Given the description of an element on the screen output the (x, y) to click on. 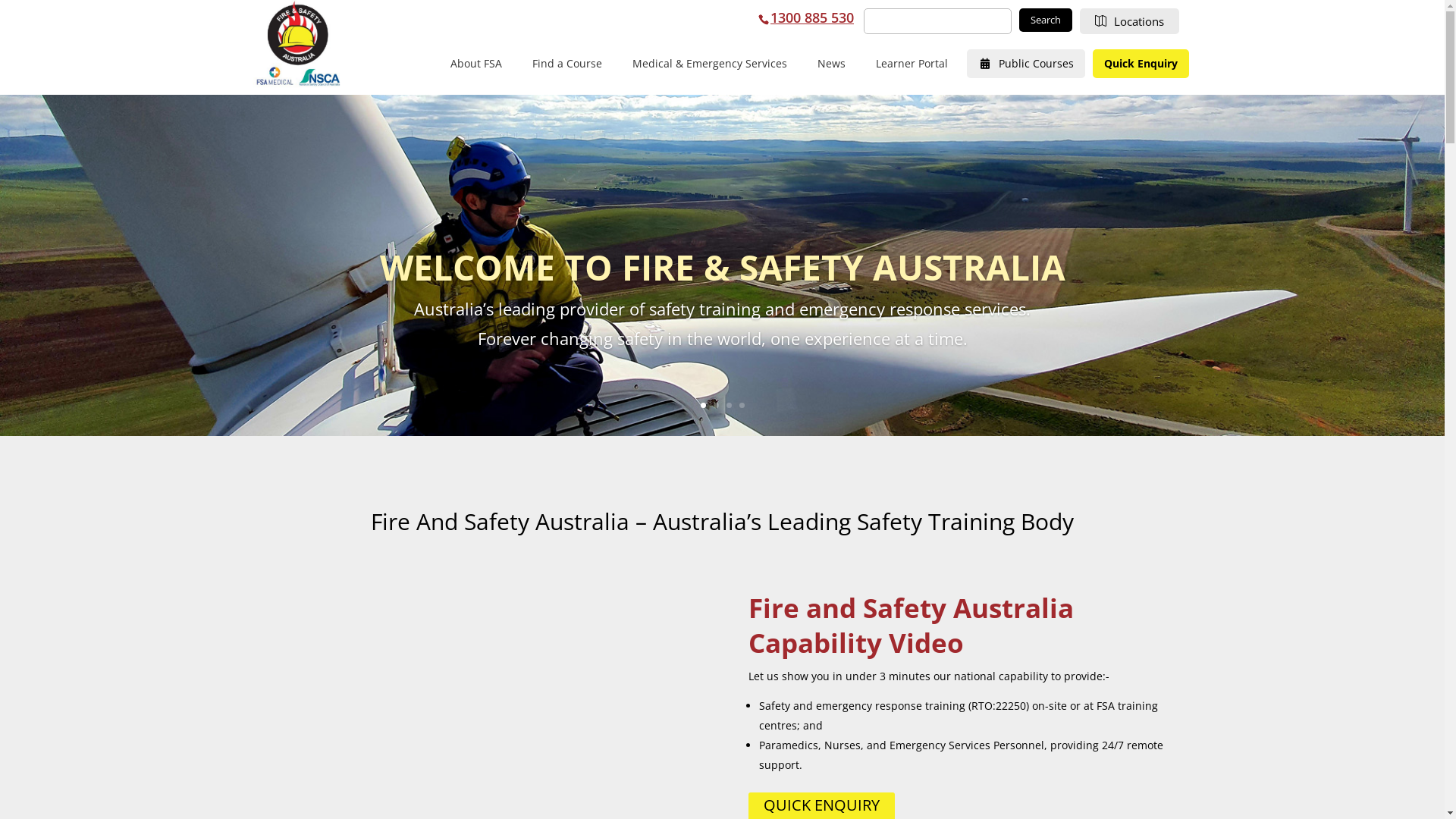
Search Element type: text (1045, 19)
Public Courses Element type: text (1025, 63)
3 Element type: text (728, 404)
Learner Portal Element type: text (911, 63)
1300 885 530 Element type: text (811, 16)
Medical & Emergency Services Element type: text (709, 63)
1 Element type: text (703, 404)
About FSA Element type: text (476, 63)
4 Element type: text (740, 404)
Locations Element type: text (1129, 20)
News Element type: text (831, 63)
Find a Course Element type: text (566, 63)
Quick Enquiry Element type: text (1140, 63)
2 Element type: text (715, 404)
